Given the description of an element on the screen output the (x, y) to click on. 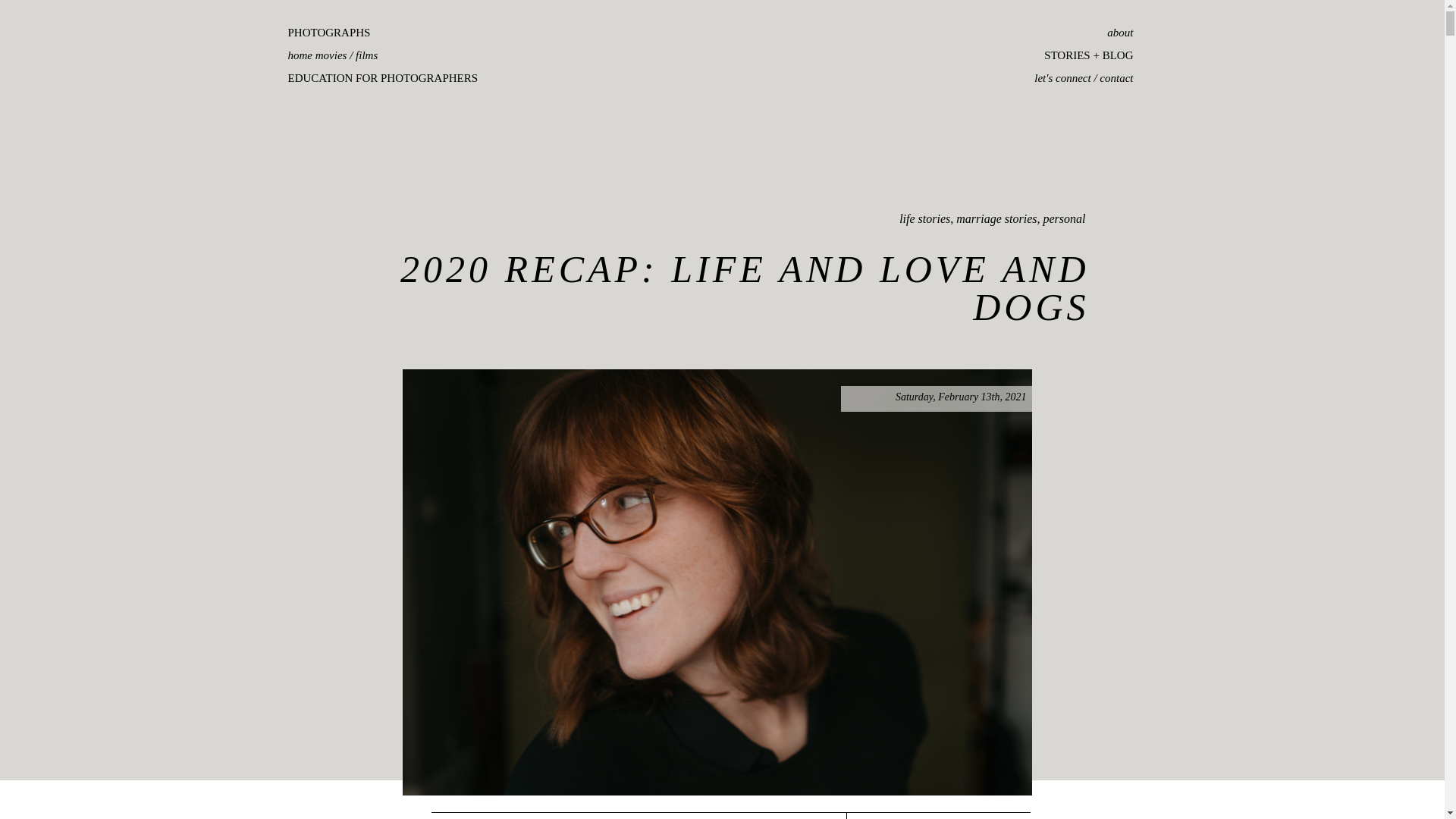
life stories (924, 218)
about (1051, 35)
marriage stories (996, 218)
PHOTOGRAPHS (411, 35)
EDUCATION FOR PHOTOGRAPHERS (411, 80)
personal (1064, 218)
